Given the description of an element on the screen output the (x, y) to click on. 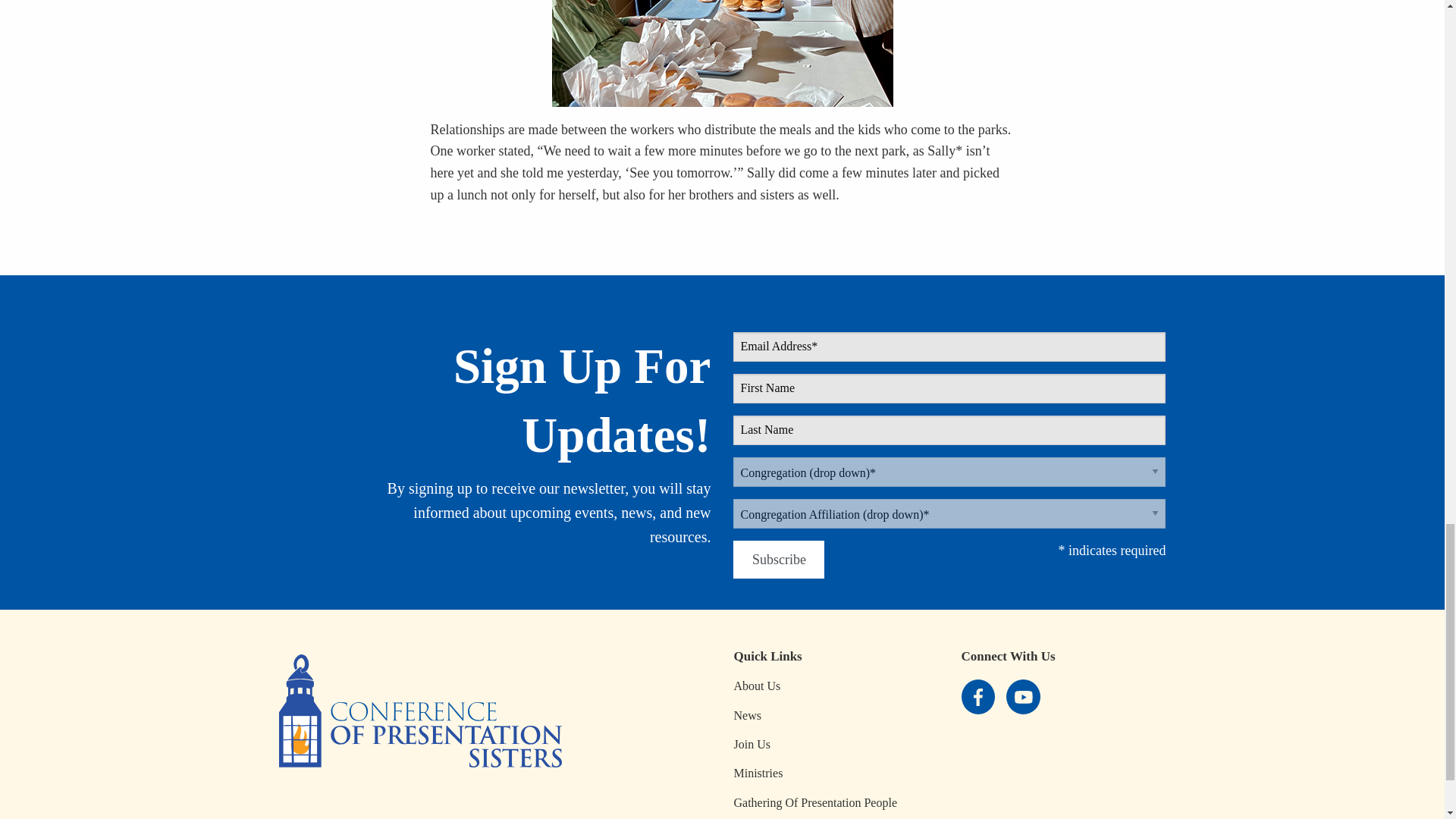
Subscribe (778, 559)
